Given the description of an element on the screen output the (x, y) to click on. 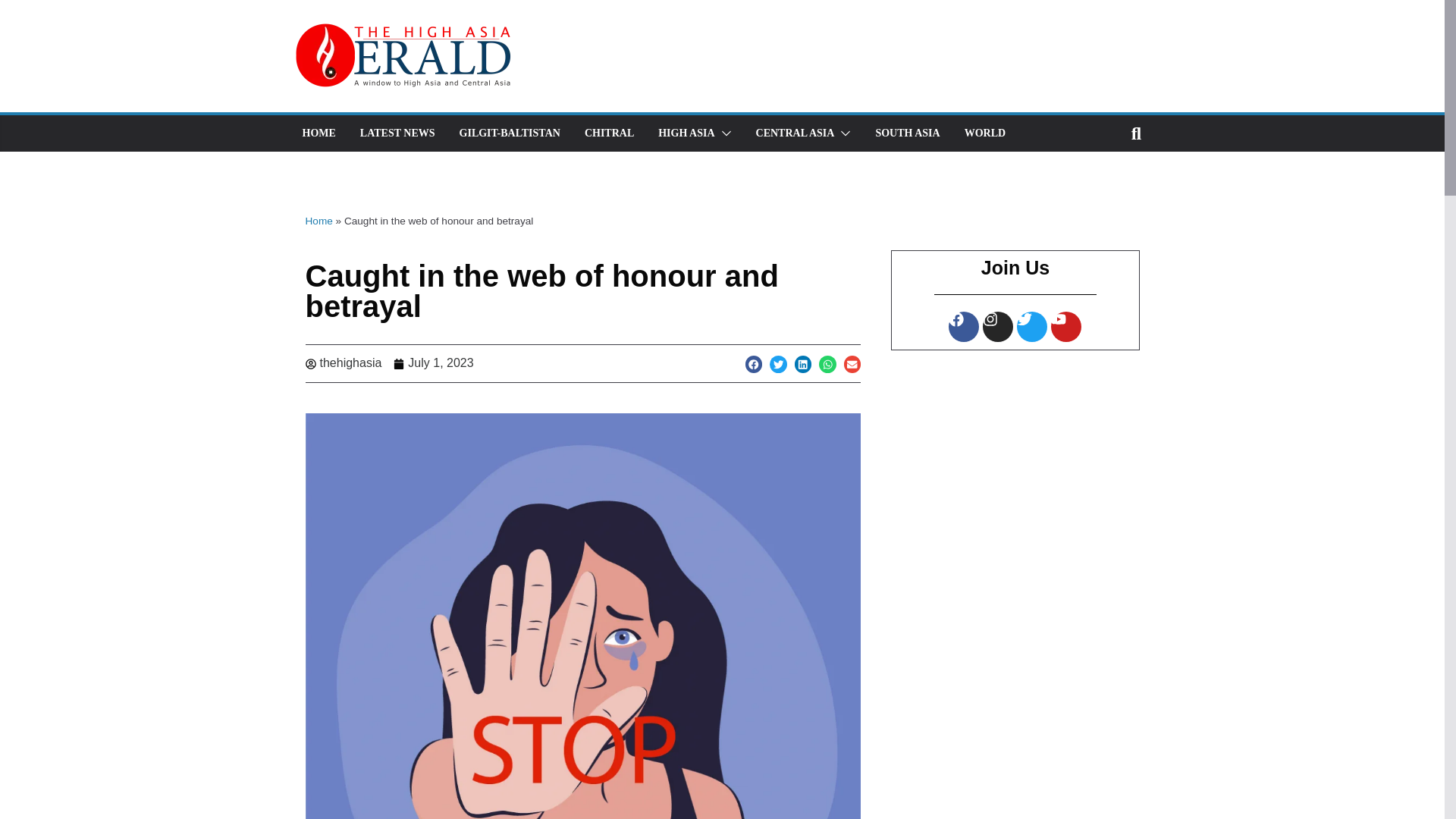
CENTRAL ASIA (794, 133)
thehighasia (342, 363)
HIGH ASIA (686, 133)
LATEST NEWS (397, 133)
WORLD (984, 133)
GILGIT-BALTISTAN (510, 133)
CHITRAL (609, 133)
SOUTH ASIA (907, 133)
July 1, 2023 (433, 363)
Home (317, 220)
HOME (317, 133)
